Given the description of an element on the screen output the (x, y) to click on. 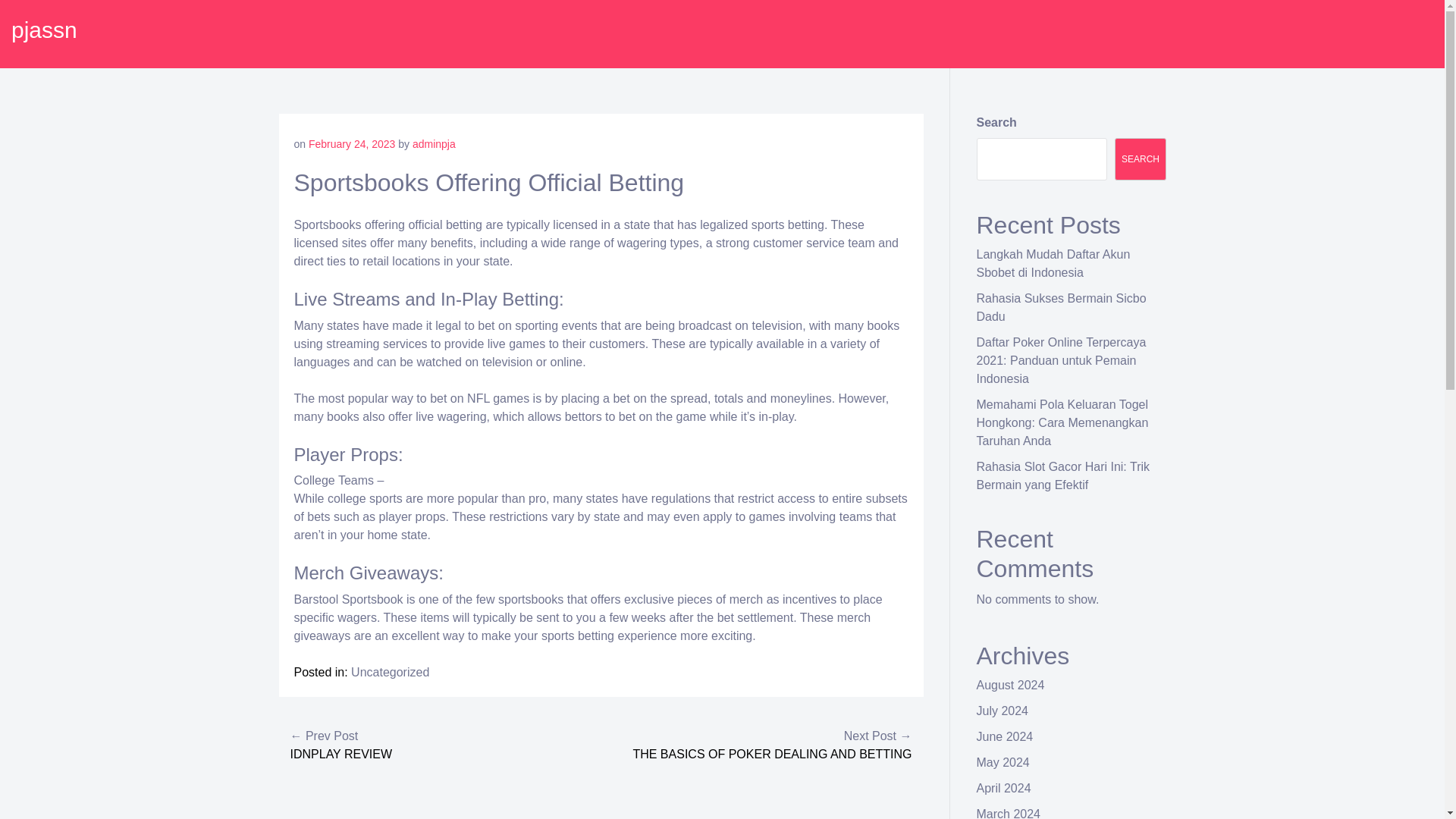
March 2024 (1008, 813)
Langkah Mudah Daftar Akun Sbobet di Indonesia (1053, 263)
February 24, 2023 (351, 143)
April 2024 (1003, 788)
June 2024 (1004, 736)
adminpja (433, 143)
August 2024 (1010, 684)
Rahasia Sukses Bermain Sicbo Dadu (1061, 306)
